Given the description of an element on the screen output the (x, y) to click on. 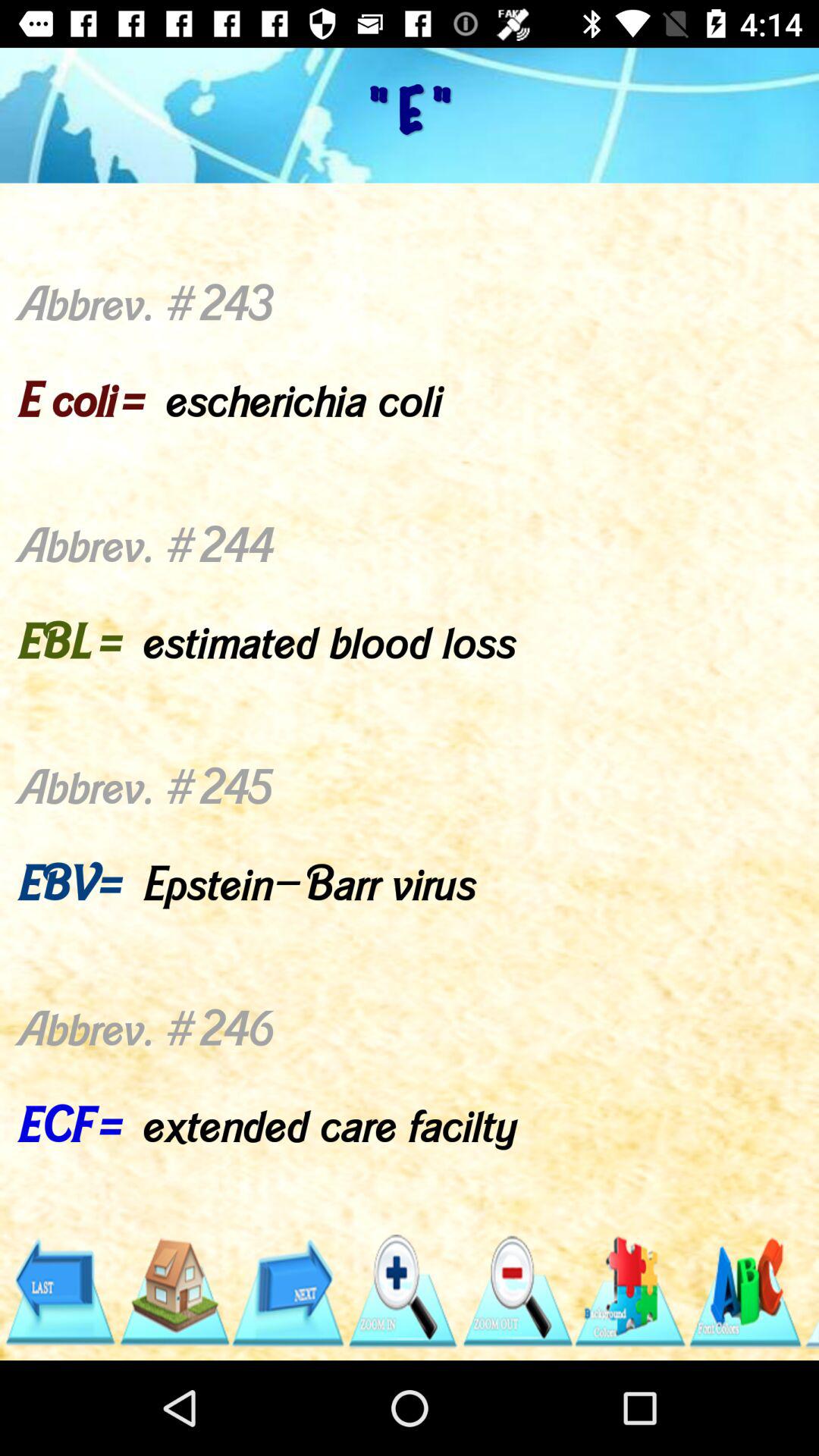
turn on app below the abbrev 	243	 	e app (59, 1291)
